Given the description of an element on the screen output the (x, y) to click on. 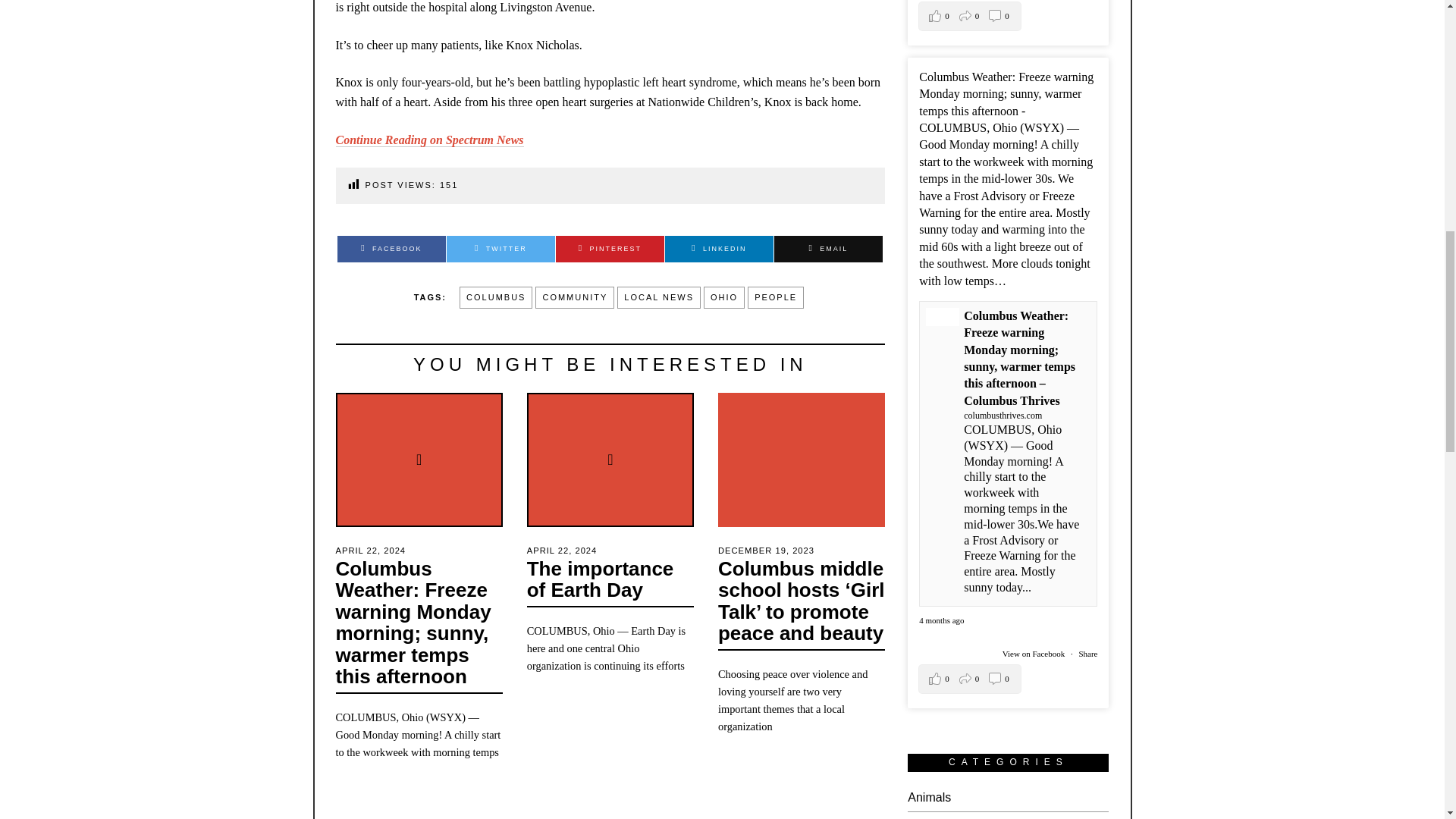
TWITTER (500, 248)
Facebook (391, 248)
Pinterest (609, 248)
LOCAL NEWS (658, 297)
COMMUNITY (574, 297)
LINKEDIN (719, 248)
PEOPLE (775, 297)
COLUMBUS (496, 297)
FACEBOOK (391, 248)
Continue Reading on Spectrum News (428, 140)
